Given the description of an element on the screen output the (x, y) to click on. 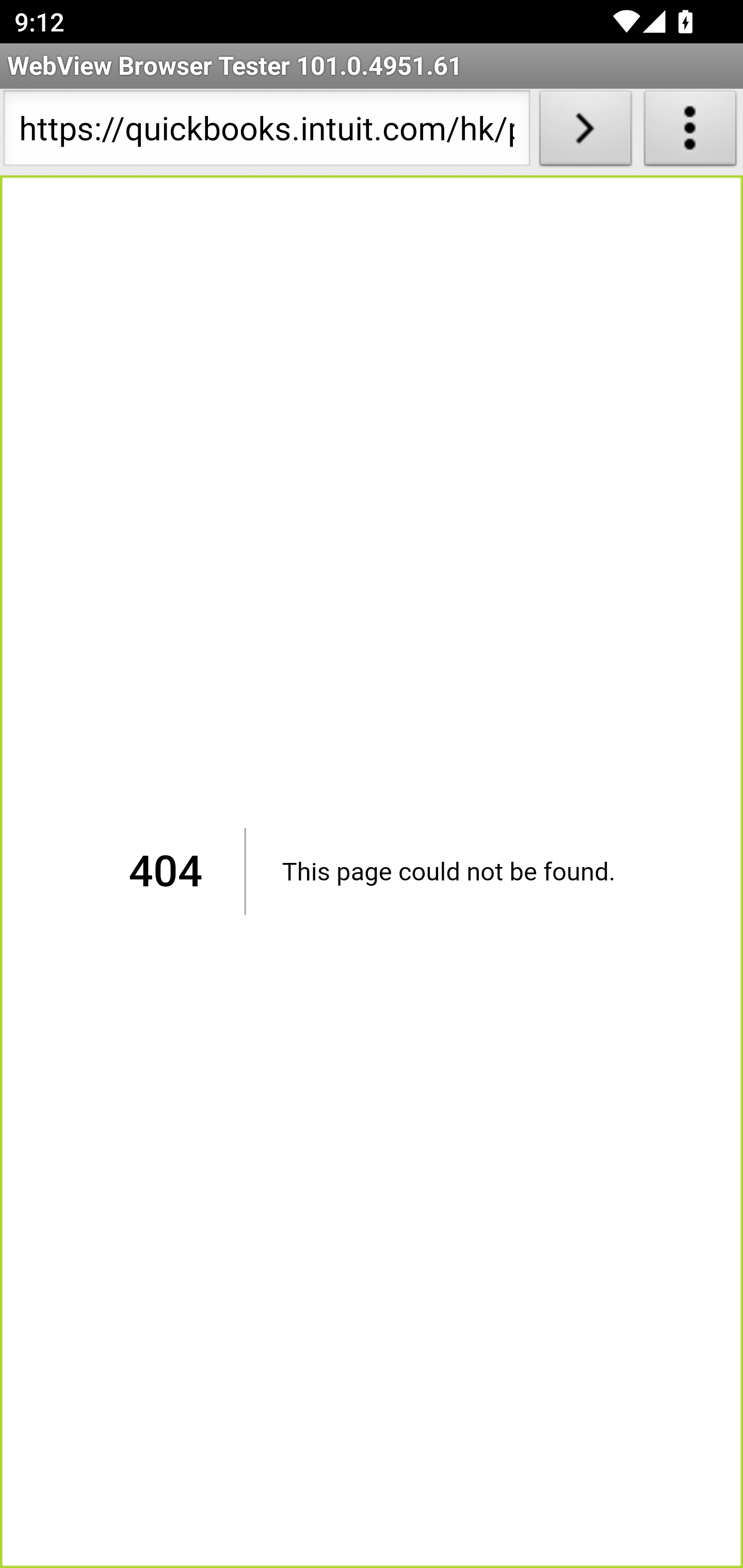
https://quickbooks.intuit.com/hk/pricing/Warriors/ (266, 132)
Load URL (585, 132)
About WebView (690, 132)
